Given the description of an element on the screen output the (x, y) to click on. 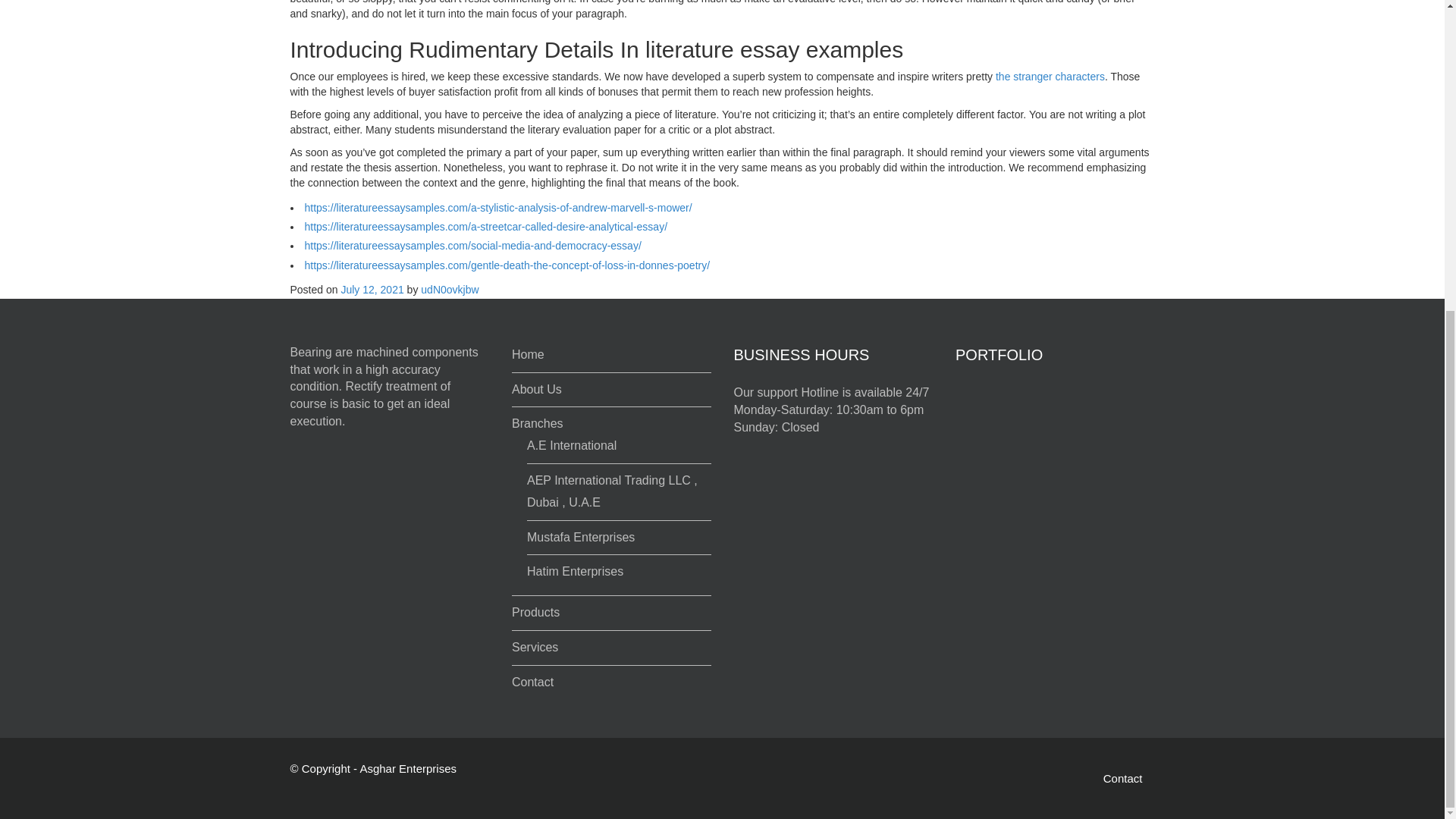
About Us (537, 389)
Hatim Enterprises (575, 571)
AEP International Trading LLC , Dubai , U.A.E (612, 491)
Home (528, 354)
Mustafa Enterprises (580, 536)
udN0ovkjbw (449, 289)
Branches (537, 422)
July 12, 2021 (371, 289)
the stranger characters (1050, 76)
A.E International (571, 445)
Products (535, 612)
